Given the description of an element on the screen output the (x, y) to click on. 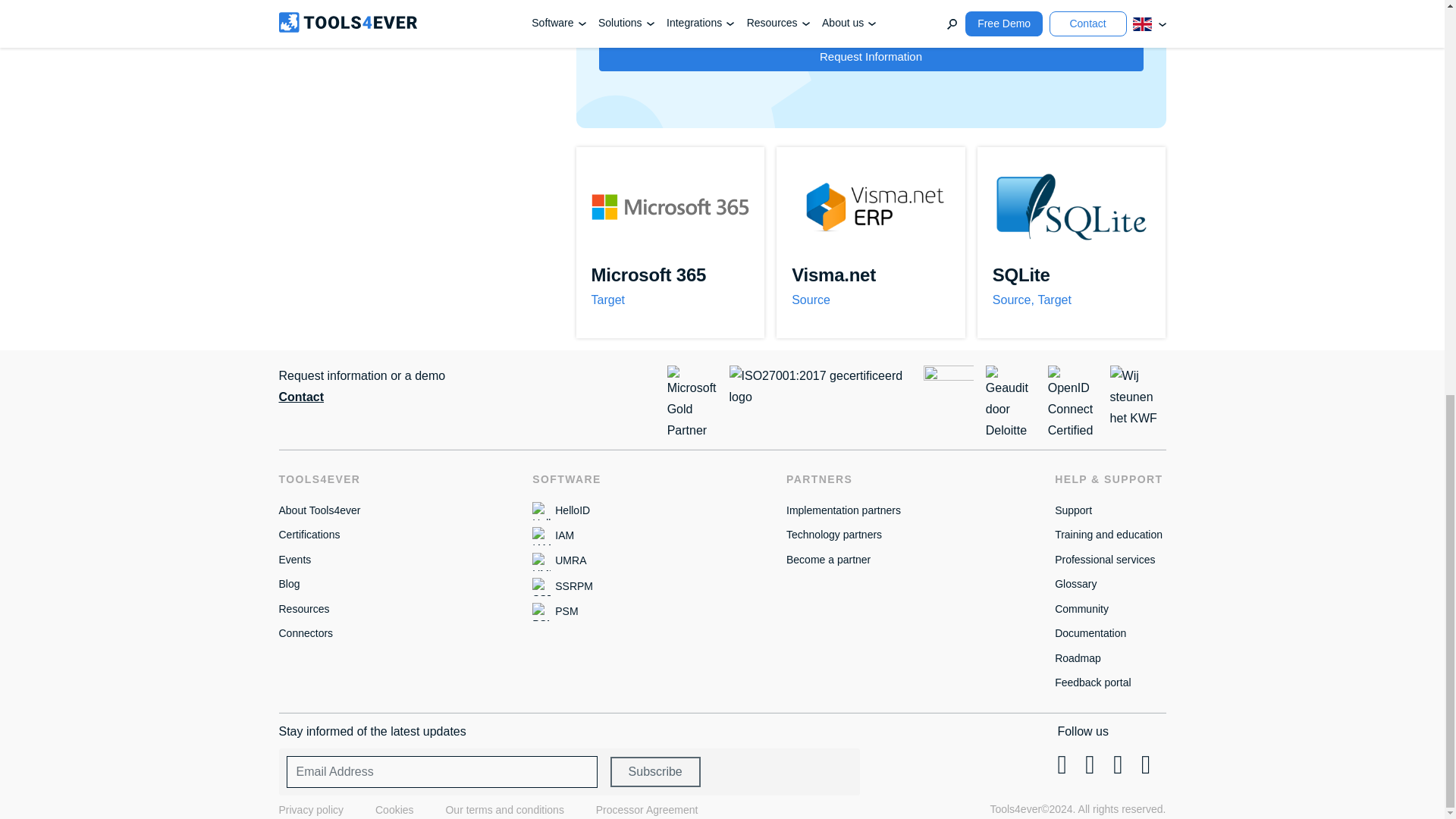
Instagram (1089, 764)
Twitter (1117, 764)
LinkedIn (1145, 764)
Twitter (1061, 764)
